Given the description of an element on the screen output the (x, y) to click on. 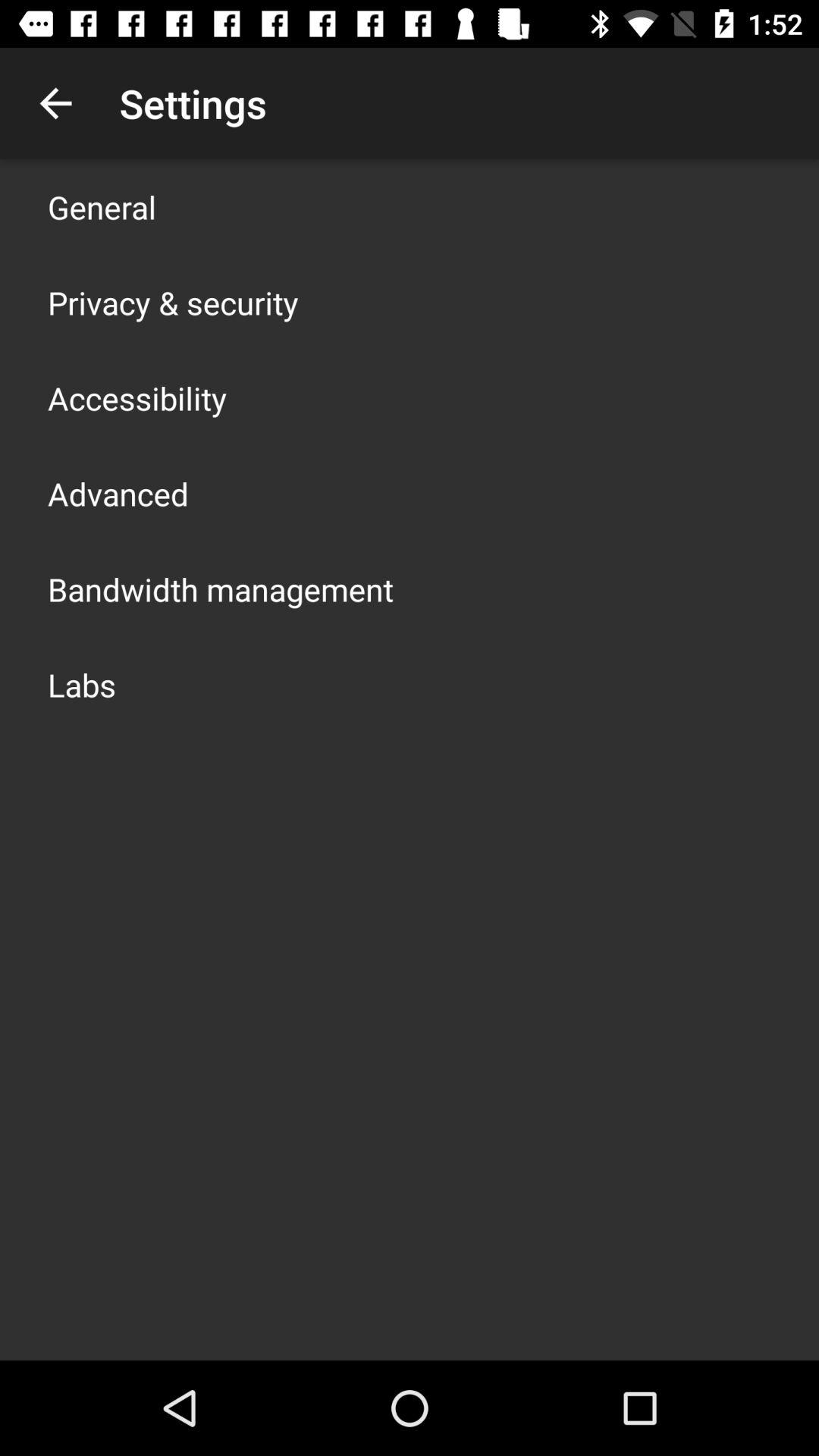
select the item below advanced app (220, 588)
